Given the description of an element on the screen output the (x, y) to click on. 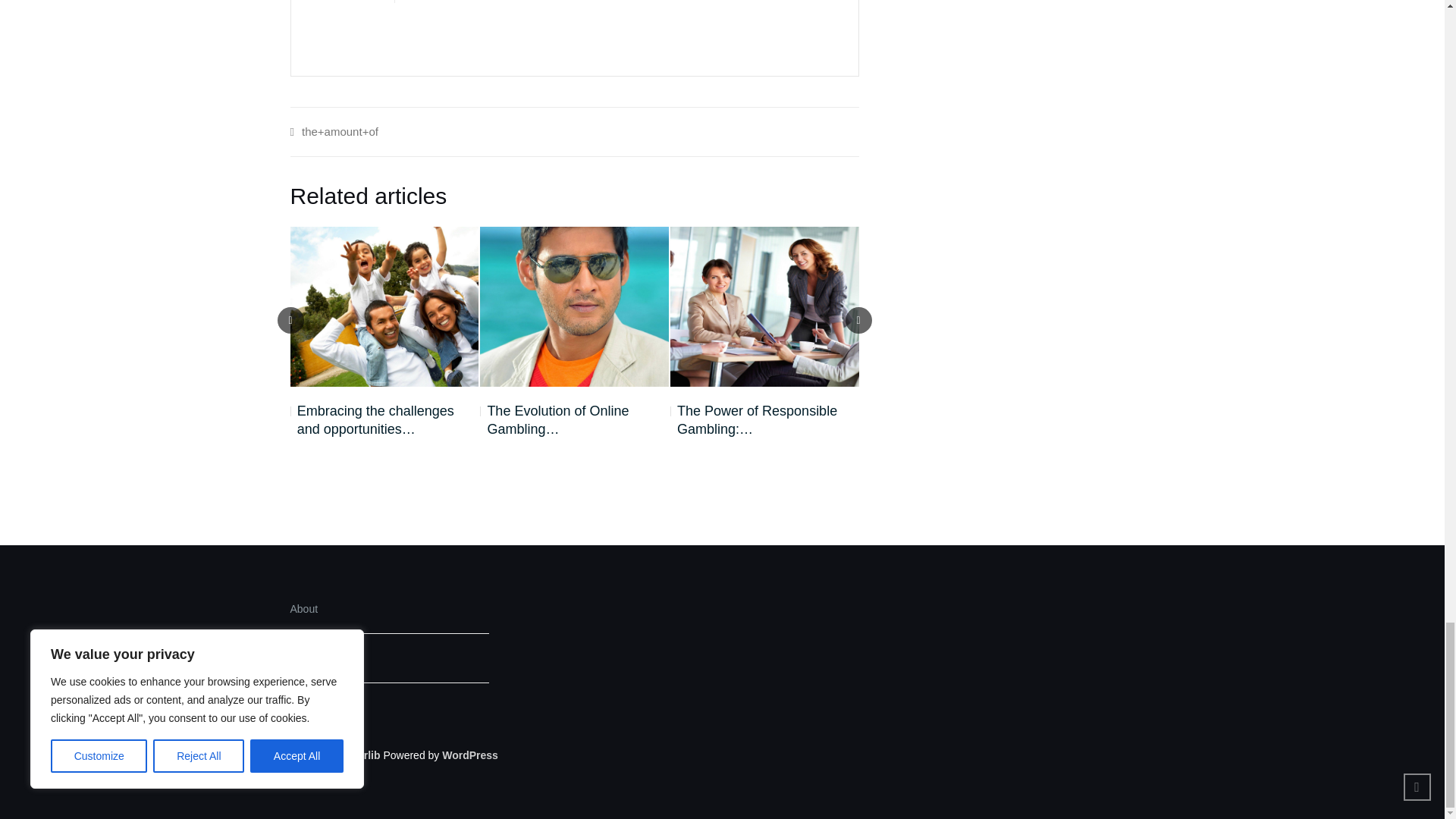
WordPress.org (469, 755)
Colorlib (360, 755)
